Given the description of an element on the screen output the (x, y) to click on. 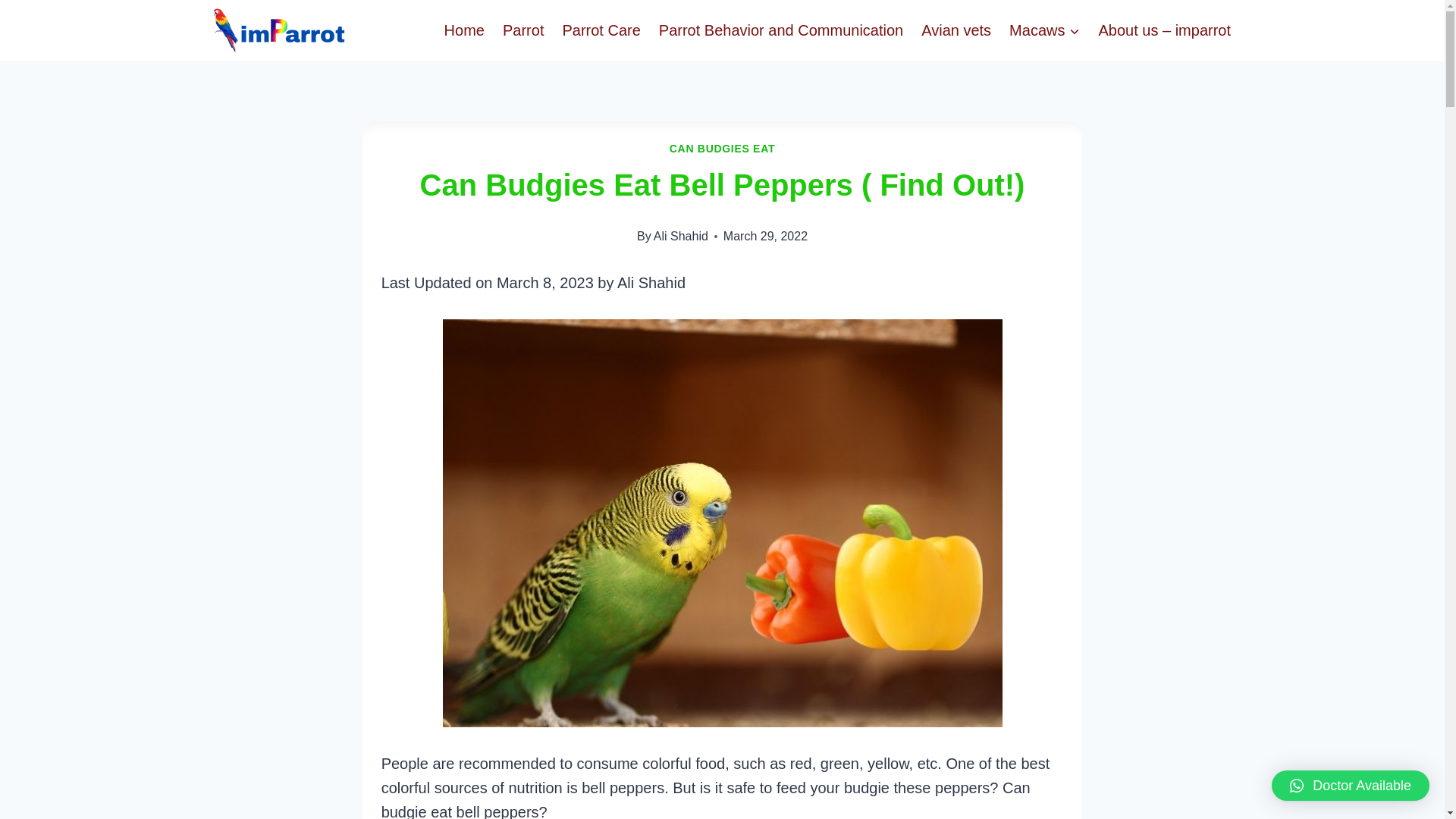
Avian vets (956, 30)
Home (464, 30)
CAN BUDGIES EAT (721, 148)
Parrot Behavior and Communication (780, 30)
Parrot (523, 30)
Parrot Care (601, 30)
Macaws (1044, 30)
Ali Shahid (680, 236)
